Given the description of an element on the screen output the (x, y) to click on. 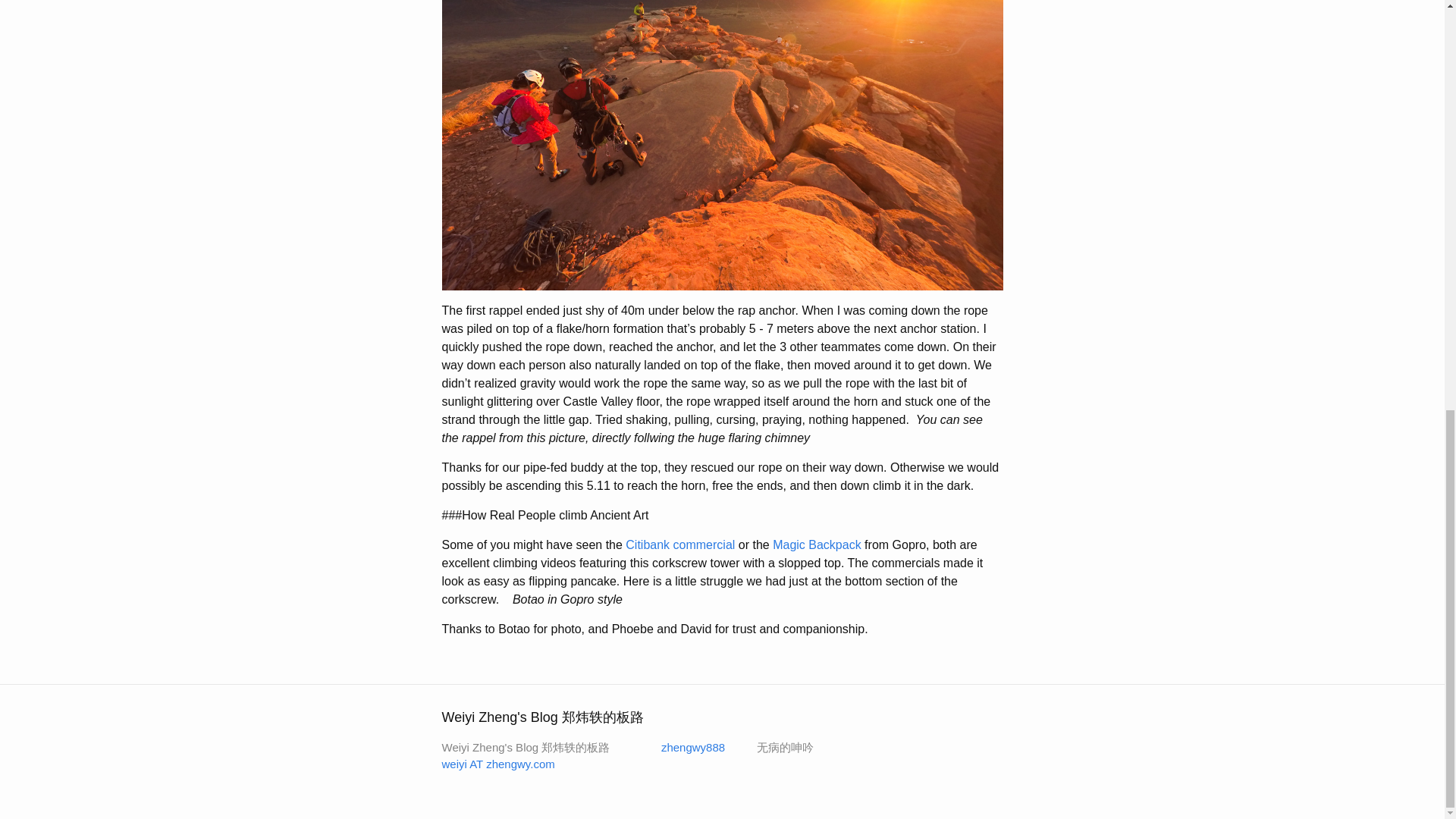
weiyi AT zhengwy.com (497, 763)
zhengwy888 (683, 747)
Citibank commercial (680, 544)
Magic Backpack (817, 544)
